Given the description of an element on the screen output the (x, y) to click on. 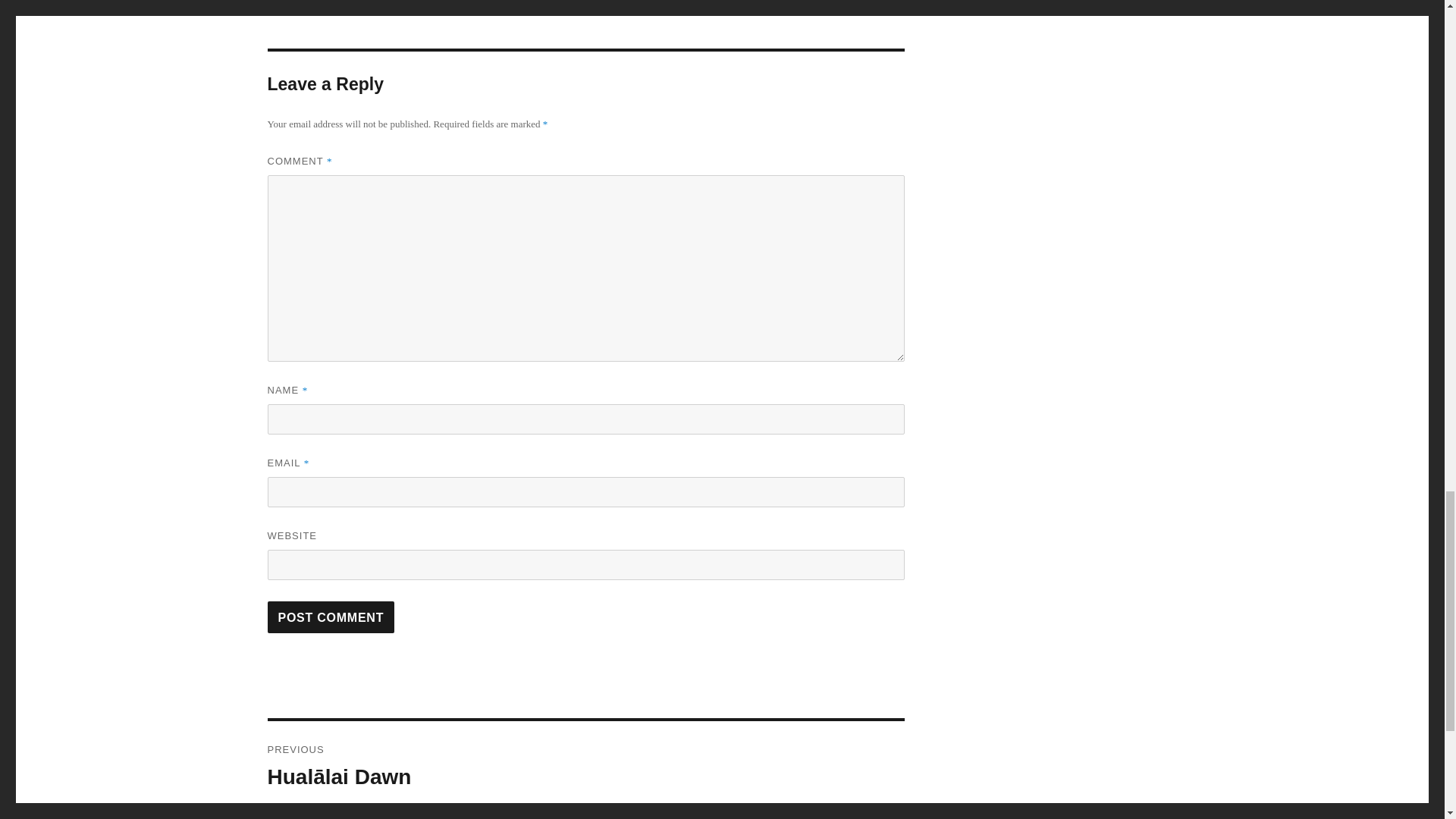
Post Comment (330, 617)
